Given the description of an element on the screen output the (x, y) to click on. 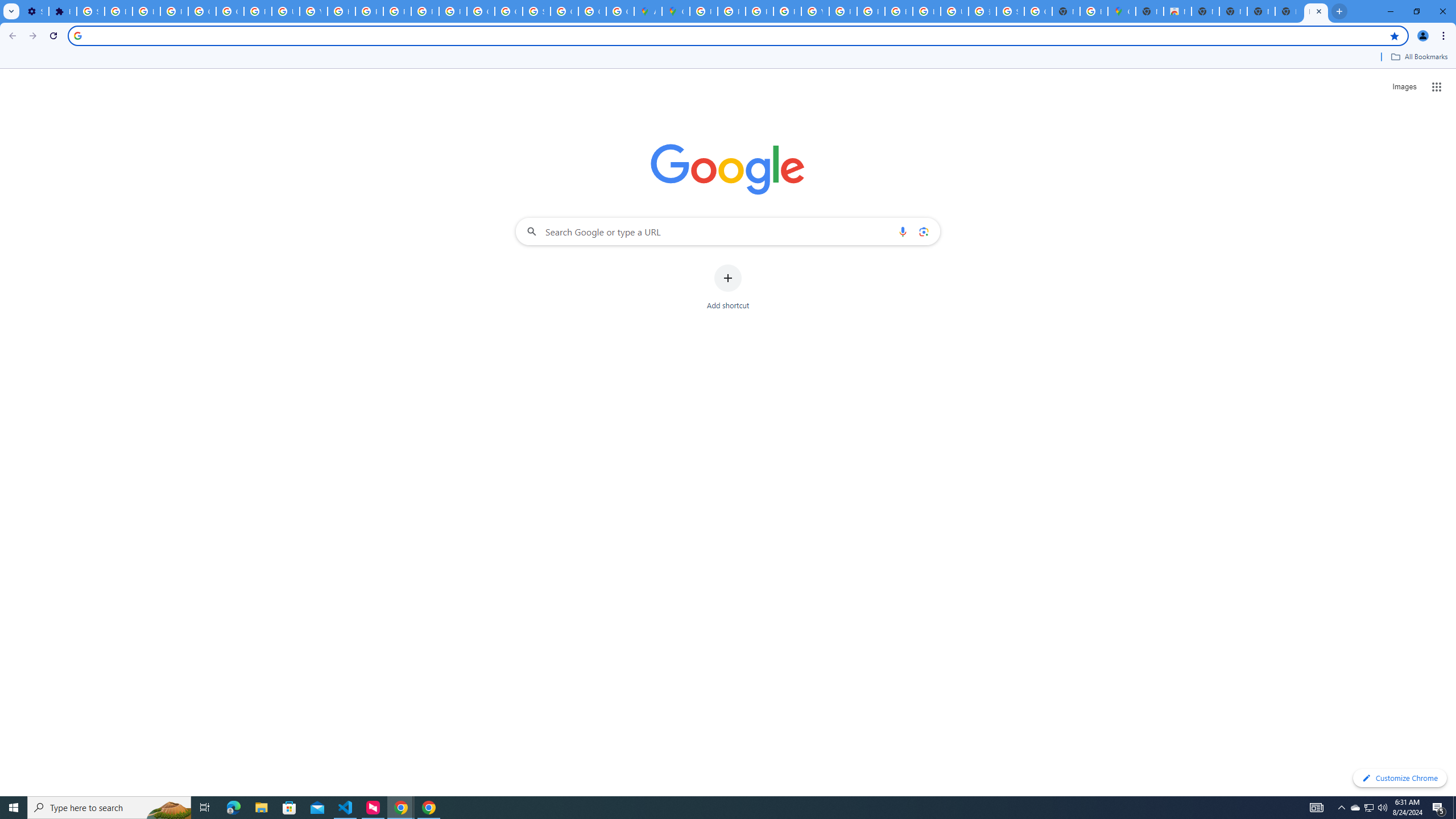
New Tab (1288, 11)
Extensions (62, 11)
Add shortcut (727, 287)
Settings - On startup (34, 11)
Privacy Help Center - Policies Help (759, 11)
New Tab (1150, 11)
Policy Accountability and Transparency - Transparency Center (703, 11)
